Given the description of an element on the screen output the (x, y) to click on. 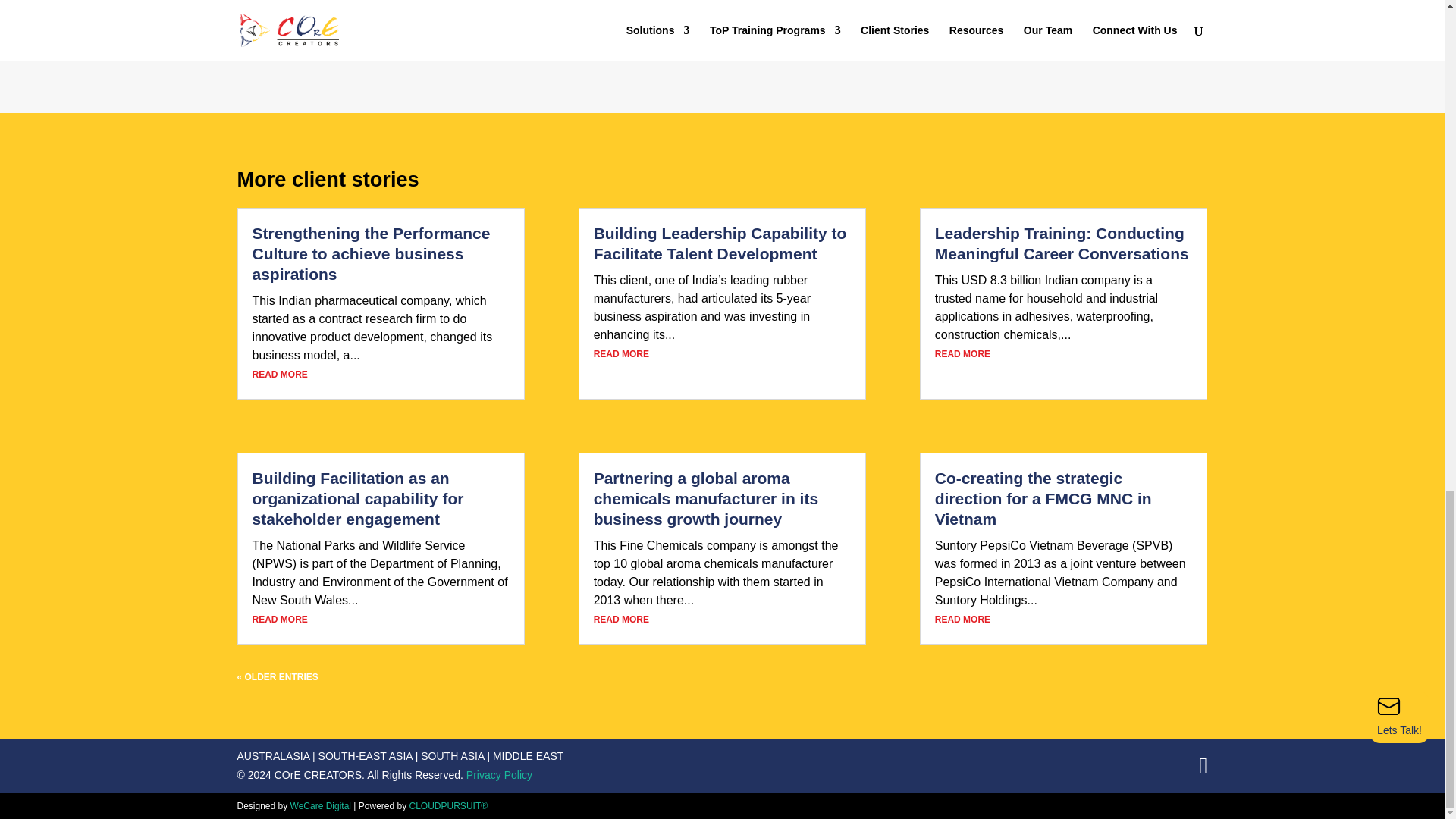
READ MORE (621, 619)
READ MORE (279, 374)
READ MORE (621, 353)
READ MORE (279, 619)
